Given the description of an element on the screen output the (x, y) to click on. 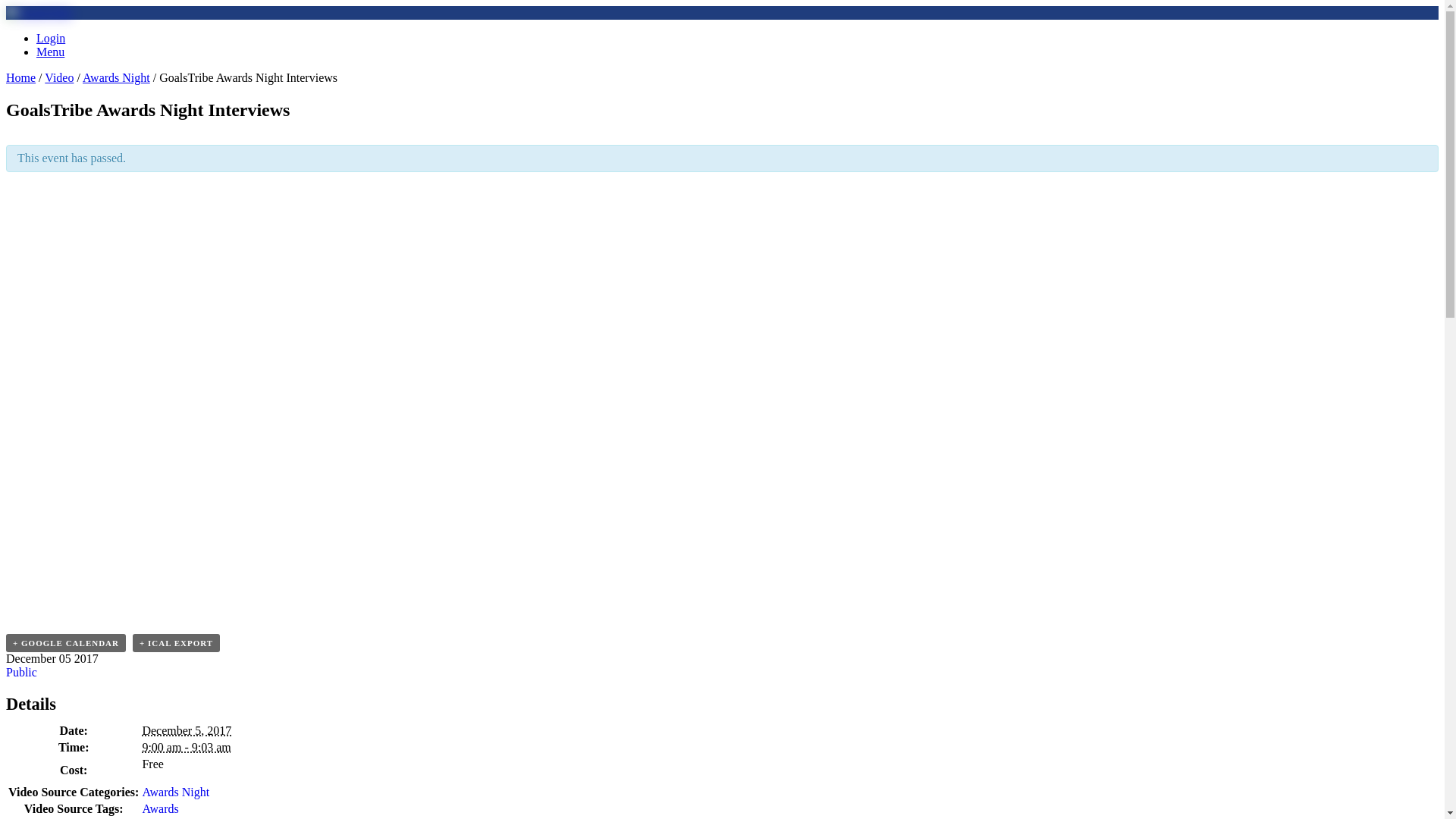
Video Element type: text (58, 77)
+ ICAL EXPORT Element type: text (175, 642)
Awards Night Element type: text (116, 77)
Awards Night Element type: text (175, 791)
GoalsTribe Awards Night Interviews Element type: hover (370, 399)
+ GOOGLE CALENDAR Element type: text (65, 642)
Public Element type: text (21, 671)
Awards Element type: text (159, 808)
Menu Element type: text (50, 51)
Home Element type: text (20, 77)
Login Element type: text (50, 37)
